Given the description of an element on the screen output the (x, y) to click on. 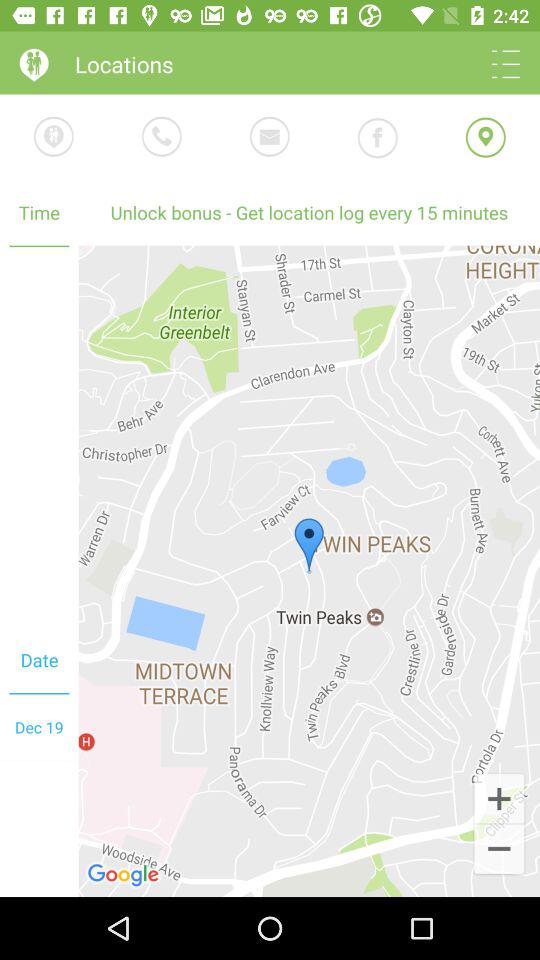
tap the item below time app (309, 570)
